Given the description of an element on the screen output the (x, y) to click on. 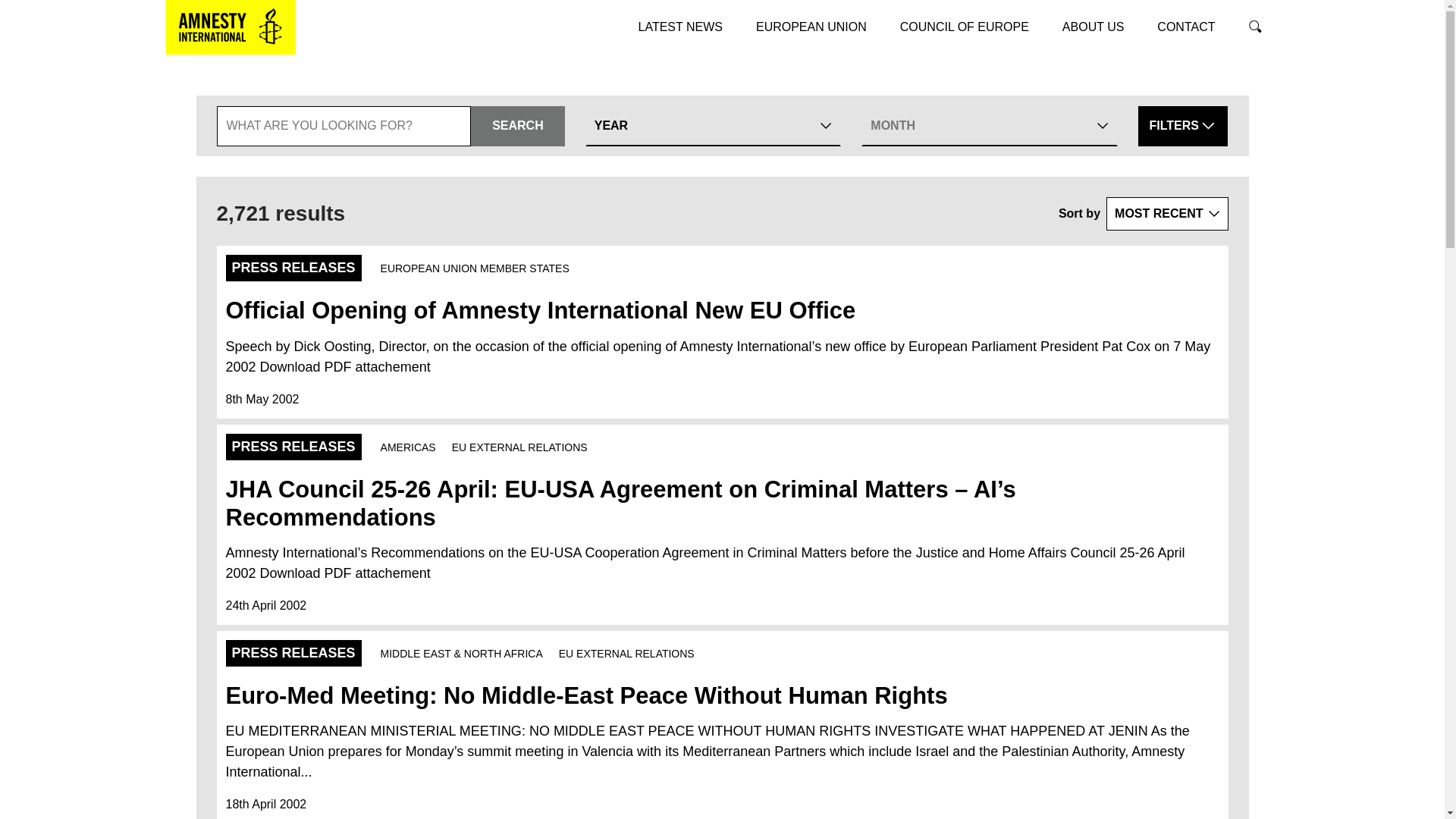
CONTACT (1185, 27)
ABOUT US (1093, 27)
PRESS RELEASES (293, 652)
PRESS RELEASES (293, 267)
EUROPEAN UNION MEMBER STATES (474, 268)
COUNCIL OF EUROPE (964, 27)
EUROPEAN UNION (811, 27)
PRESS RELEASES (293, 447)
Official Opening of Amnesty International New EU Office (540, 310)
SEARCH (517, 126)
MOST RECENT (1166, 213)
YEAR (713, 126)
AMERICAS (407, 447)
LATEST NEWS (680, 27)
